Given the description of an element on the screen output the (x, y) to click on. 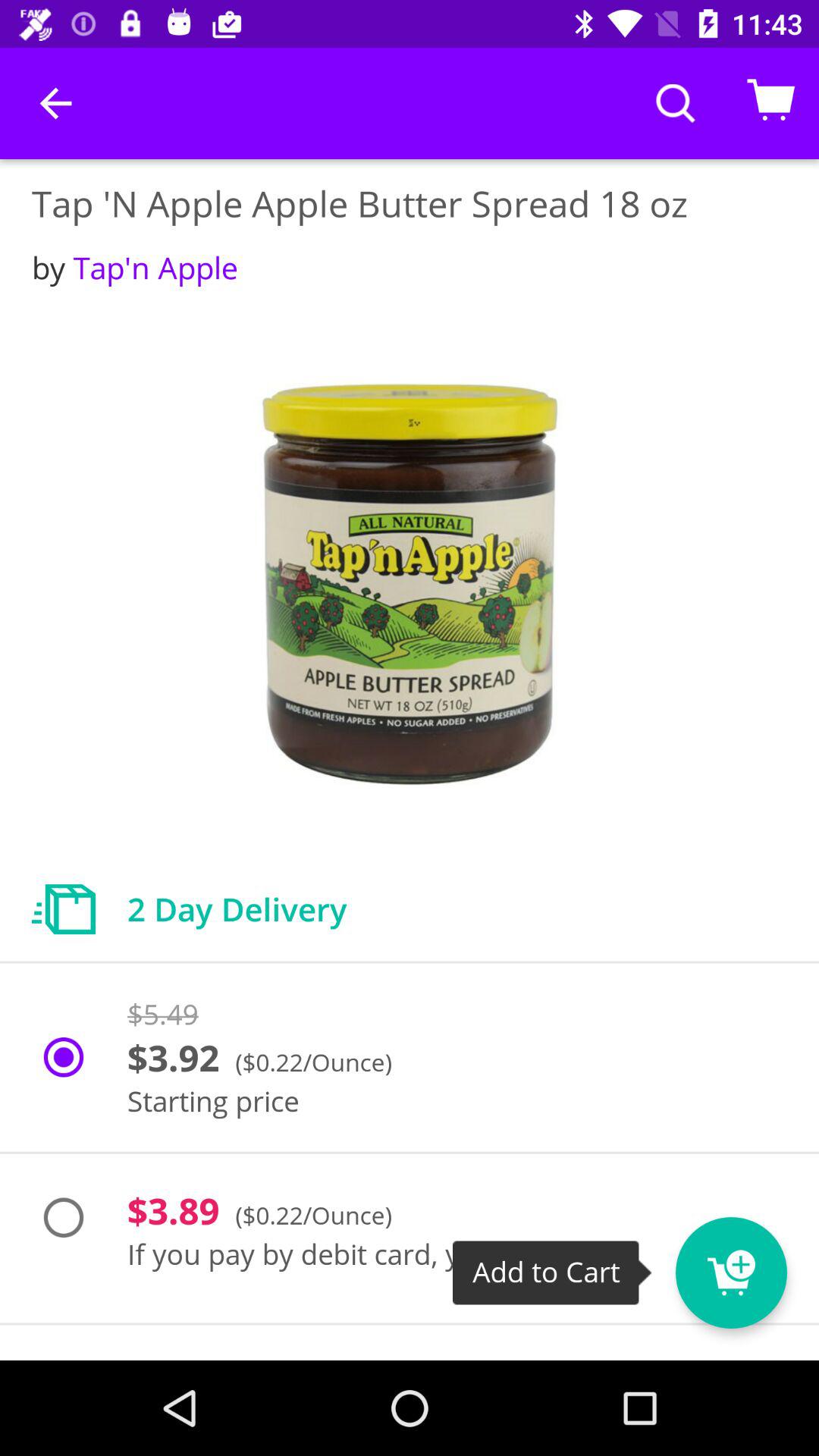
click icon below tap n apple icon (134, 267)
